Given the description of an element on the screen output the (x, y) to click on. 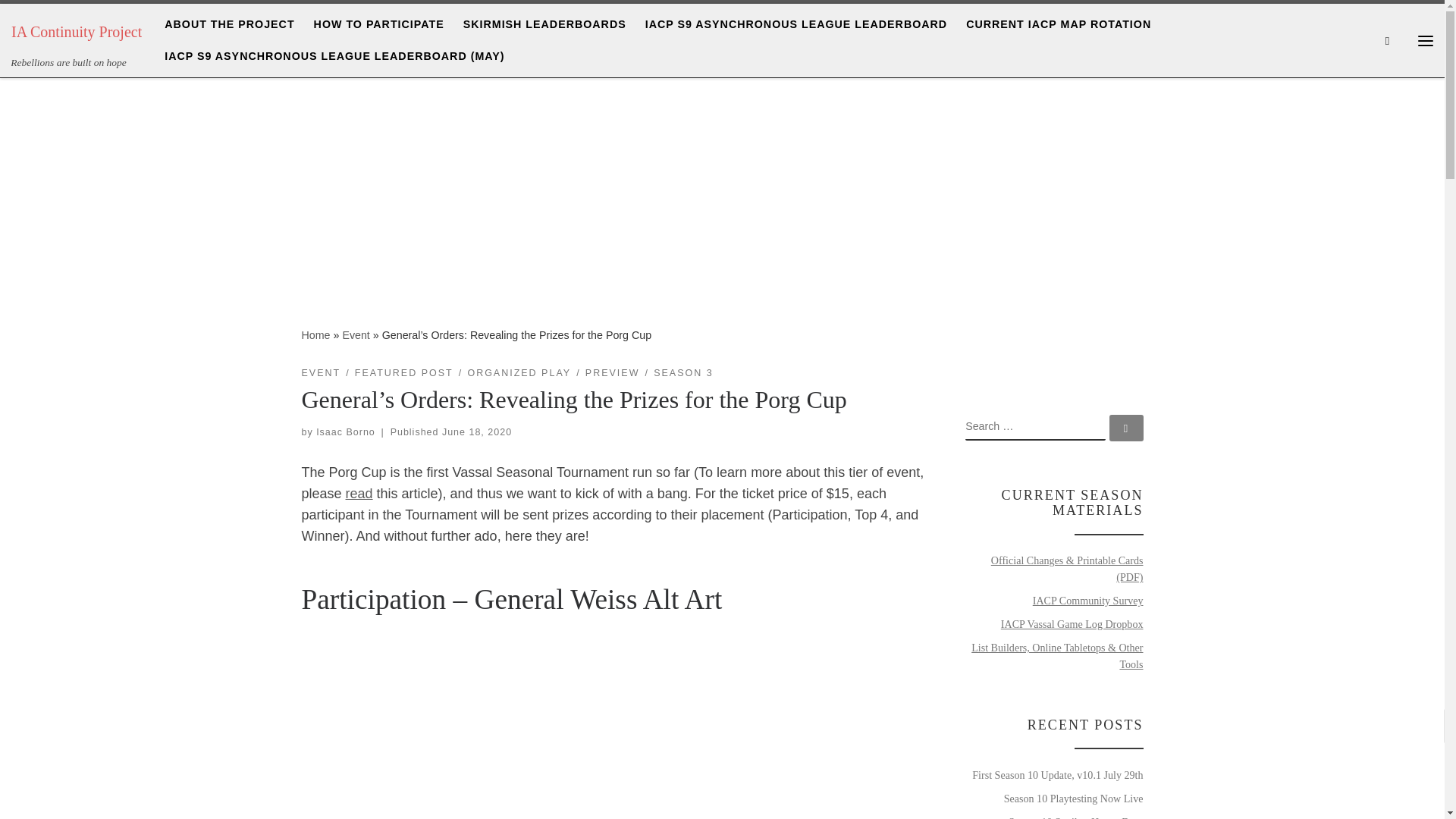
View all posts in Preview (612, 373)
Skip to content (60, 20)
CURRENT IACP MAP ROTATION (1058, 24)
View all posts in Featured Post (403, 373)
10:34 am (477, 431)
View all posts in Organized Play (518, 373)
View all posts by Isaac Borno (345, 431)
View all posts in Event (320, 373)
HOW TO PARTICIPATE (378, 24)
View all posts in Season 3 (683, 373)
